Given the description of an element on the screen output the (x, y) to click on. 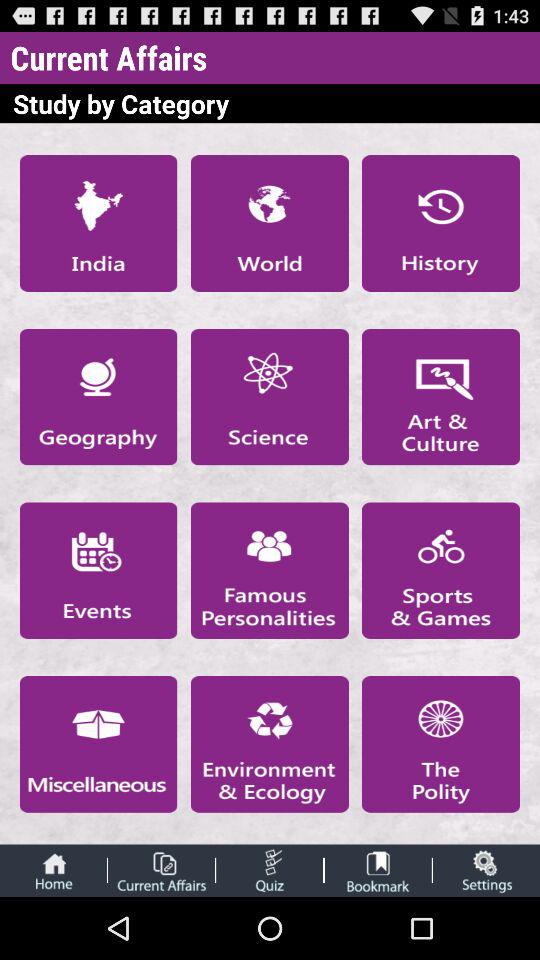
go to current affairs (161, 870)
